Given the description of an element on the screen output the (x, y) to click on. 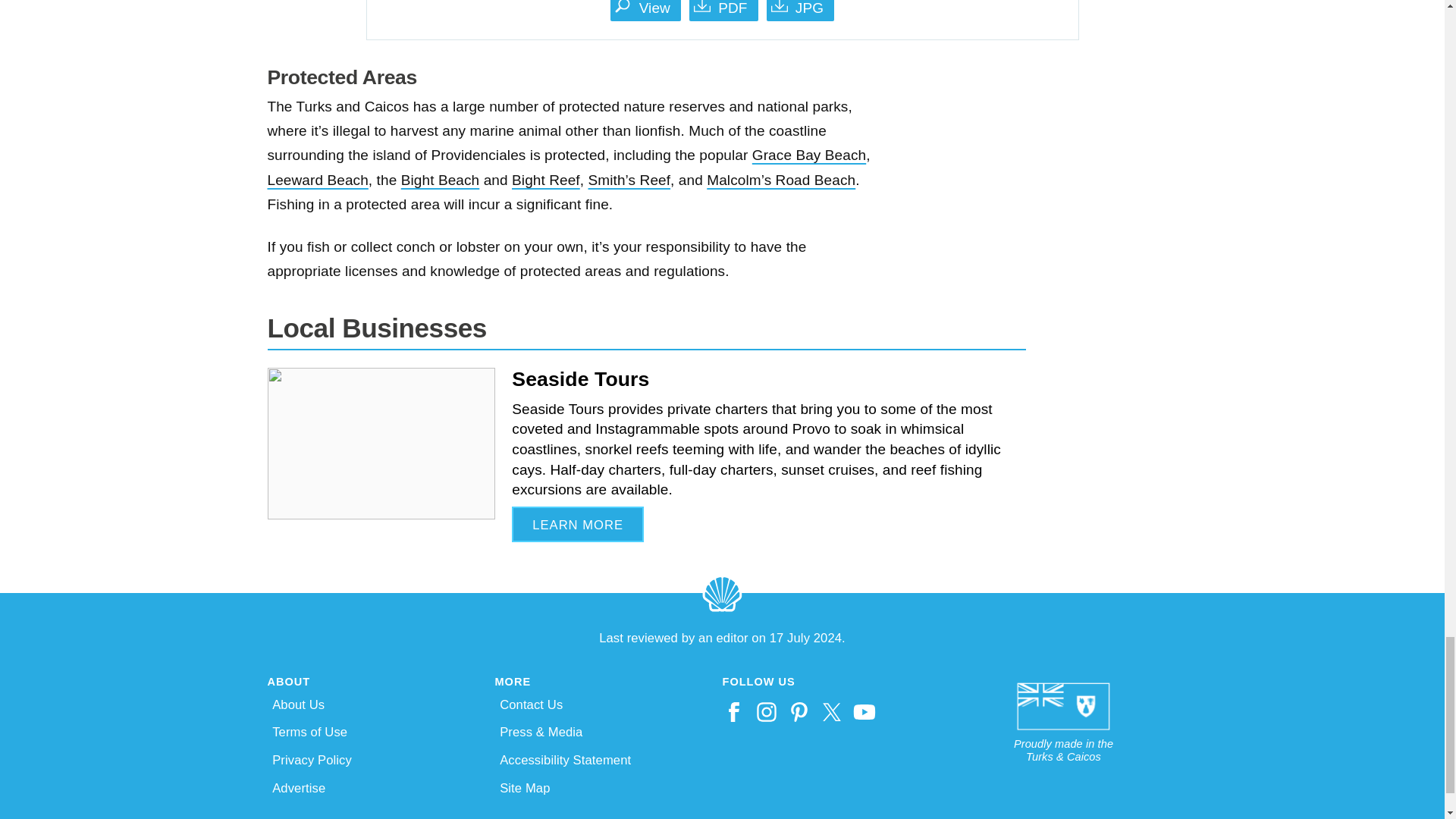
Twitter (834, 712)
Pinterest (800, 712)
Instagram (768, 712)
Facebook (735, 712)
YouTube (866, 712)
